Given the description of an element on the screen output the (x, y) to click on. 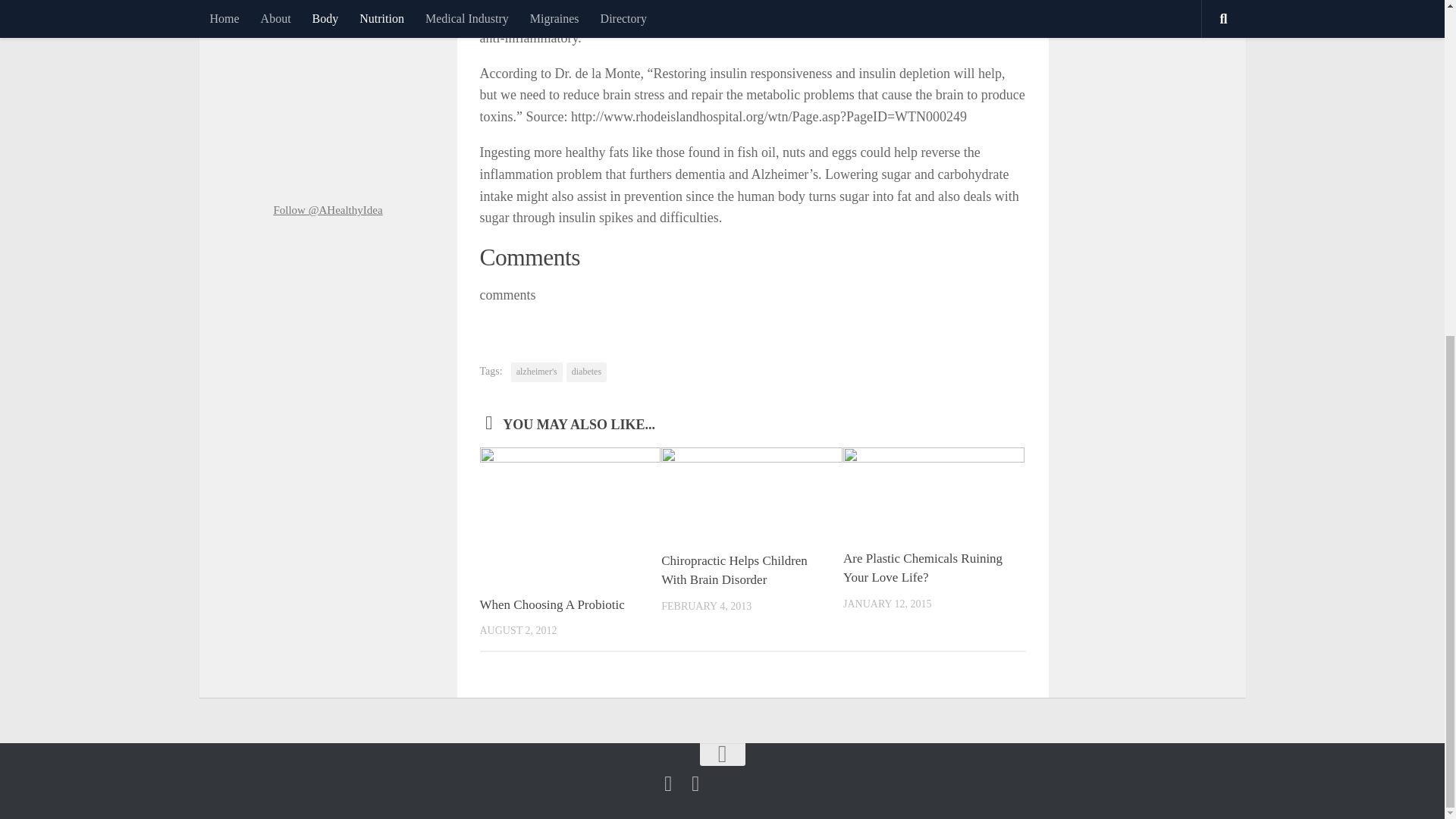
diabetes (586, 372)
Follow us on Facebook-official (668, 783)
alzheimer's (536, 372)
Permalink to Are Plastic Chemicals Ruining Your Love Life? (923, 568)
Permalink to When Choosing A Probiotic (551, 604)
Permalink to Chiropractic Helps Children With Brain Disorder (734, 570)
Are Plastic Chemicals Ruining Your Love Life? (923, 568)
Chiropractic Helps Children With Brain Disorder (734, 570)
When Choosing A Probiotic (551, 604)
